Given the description of an element on the screen output the (x, y) to click on. 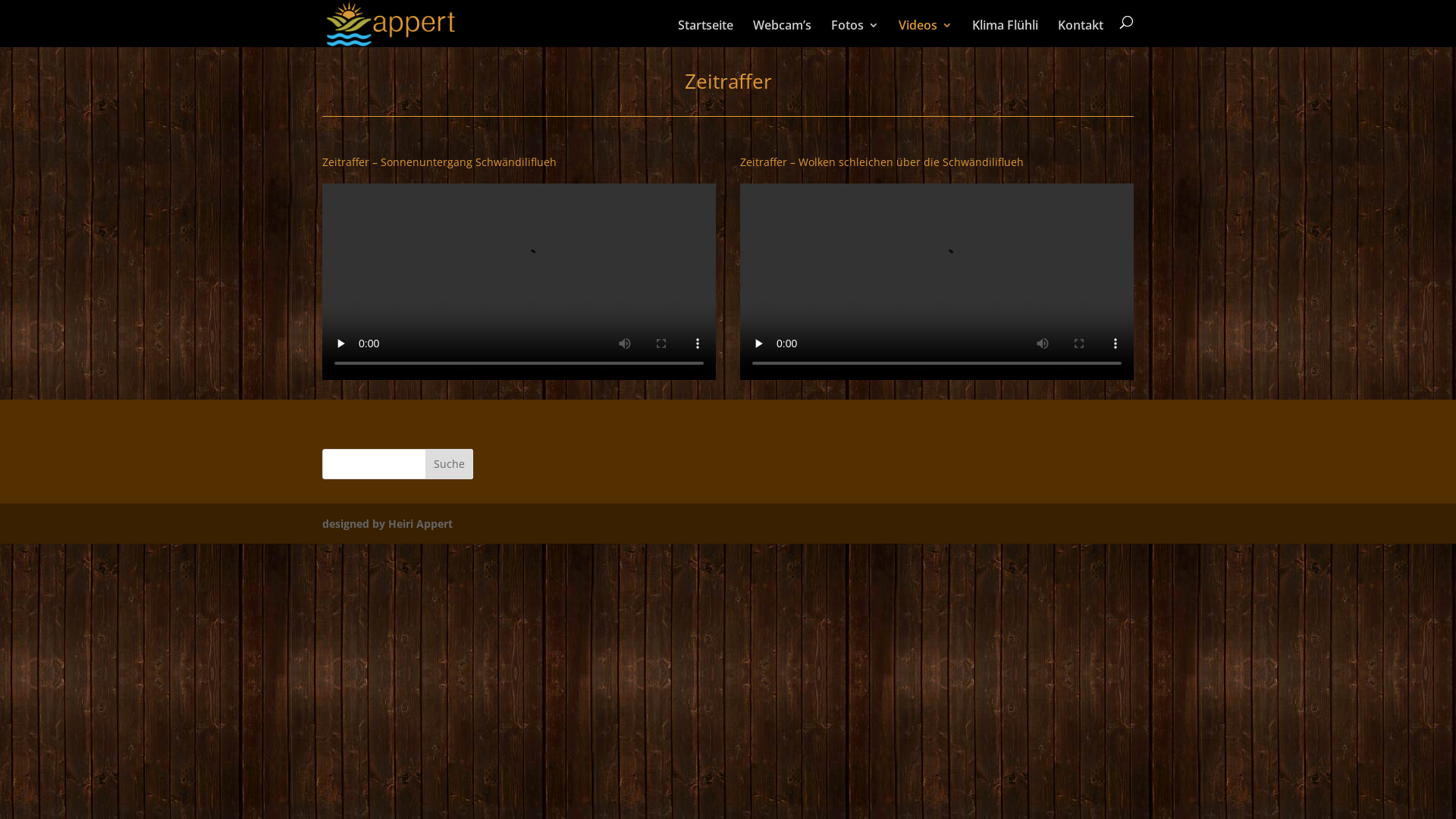
designed by Heiri Appert Element type: text (387, 523)
Videos Element type: text (925, 33)
Startseite Element type: text (705, 33)
Suche Element type: text (449, 463)
Fotos Element type: text (854, 33)
Kontakt Element type: text (1080, 33)
